Given the description of an element on the screen output the (x, y) to click on. 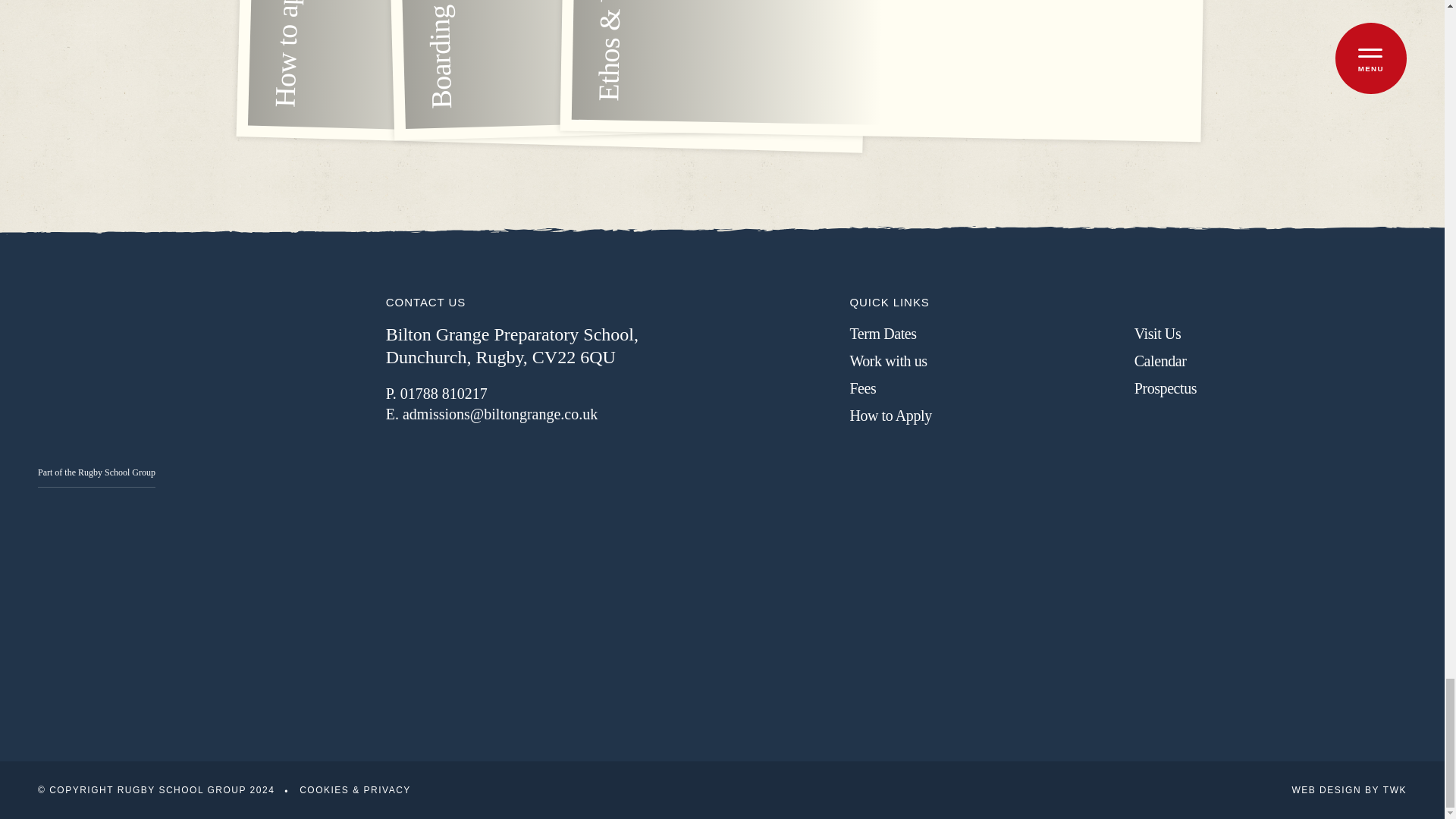
Fees (984, 387)
Work with us (984, 360)
How to Apply (984, 414)
Term Dates (984, 332)
